Given the description of an element on the screen output the (x, y) to click on. 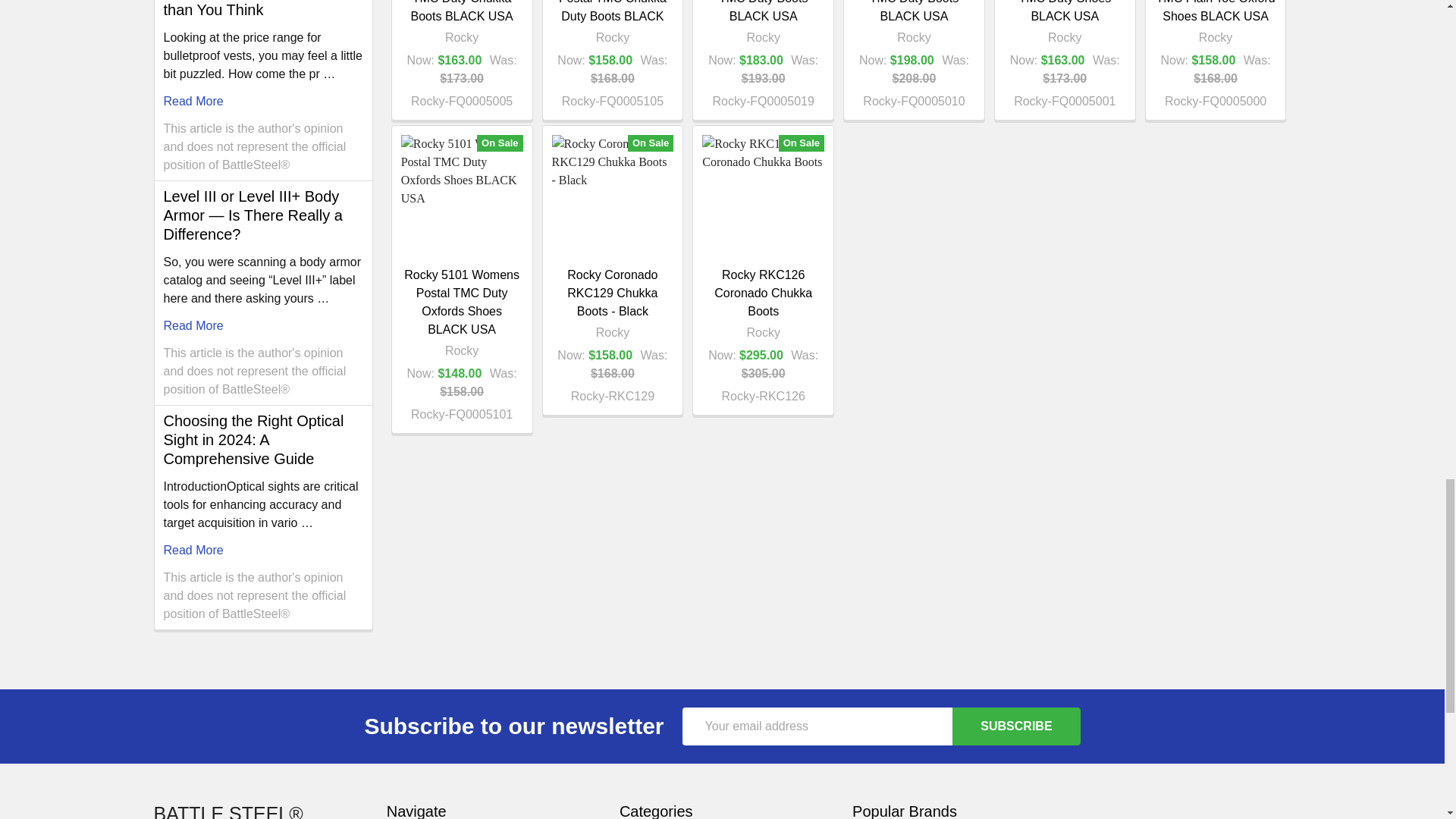
Subscribe (1016, 726)
